Given the description of an element on the screen output the (x, y) to click on. 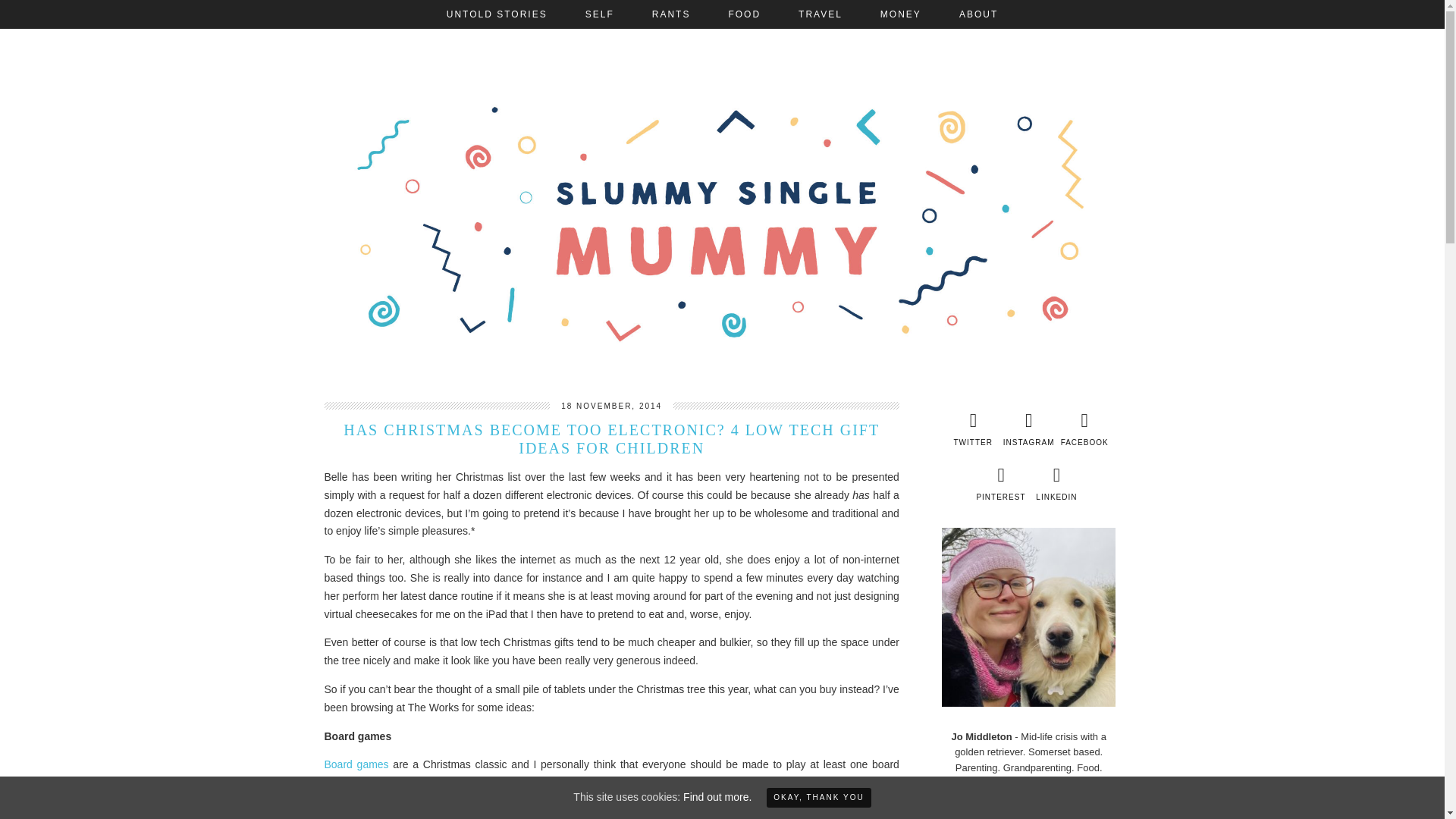
Board games (356, 764)
linkedin (1056, 483)
ABOUT (978, 14)
instagram (1029, 428)
pinterest (999, 483)
RANTS (671, 14)
FOOD (743, 14)
MONEY (900, 14)
UNTOLD STORIES (497, 14)
twitter (972, 428)
SELF (599, 14)
facebook (1084, 428)
TRAVEL (819, 14)
